Given the description of an element on the screen output the (x, y) to click on. 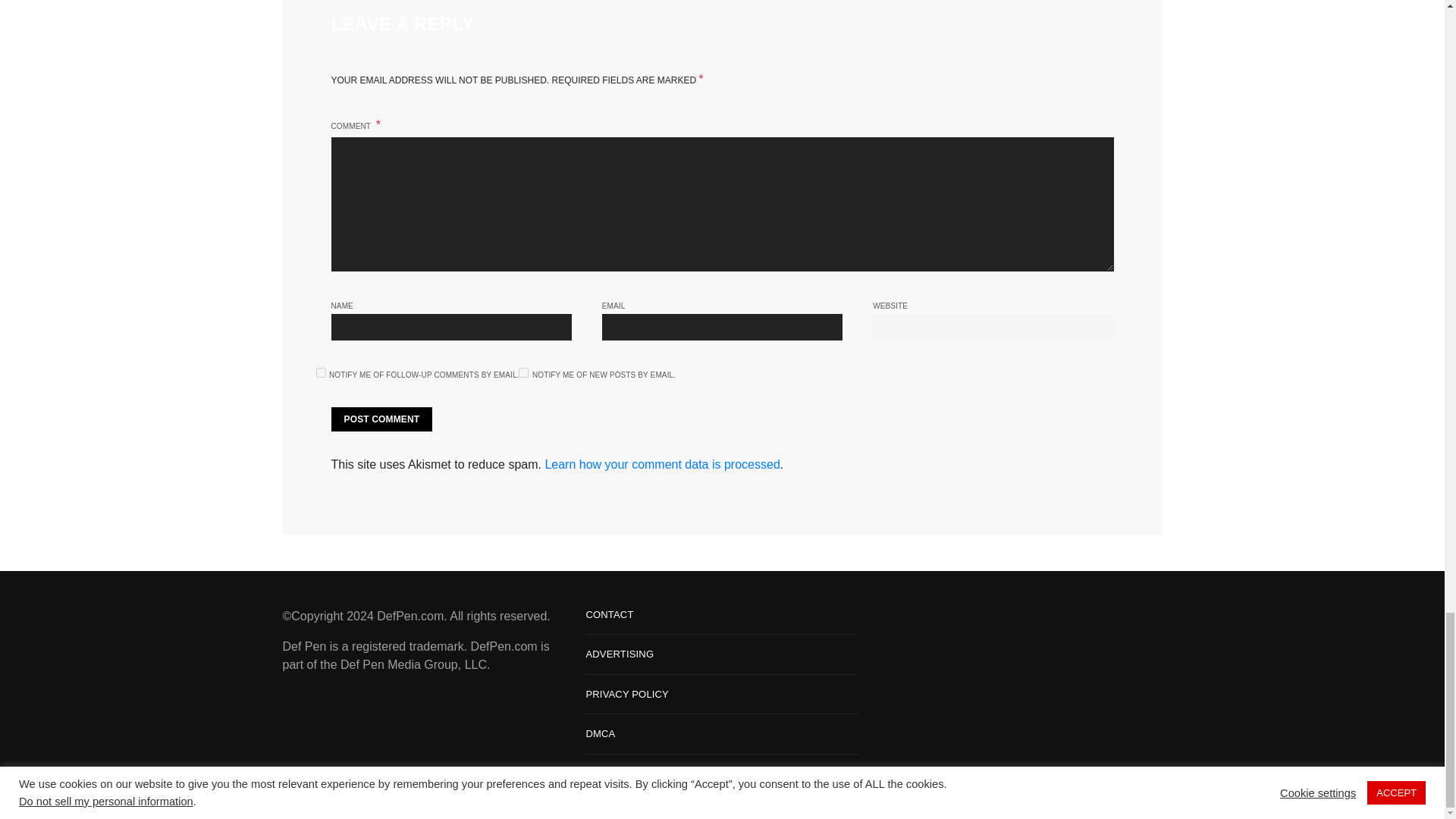
subscribe (523, 372)
Post Comment (381, 419)
subscribe (319, 372)
